Given the description of an element on the screen output the (x, y) to click on. 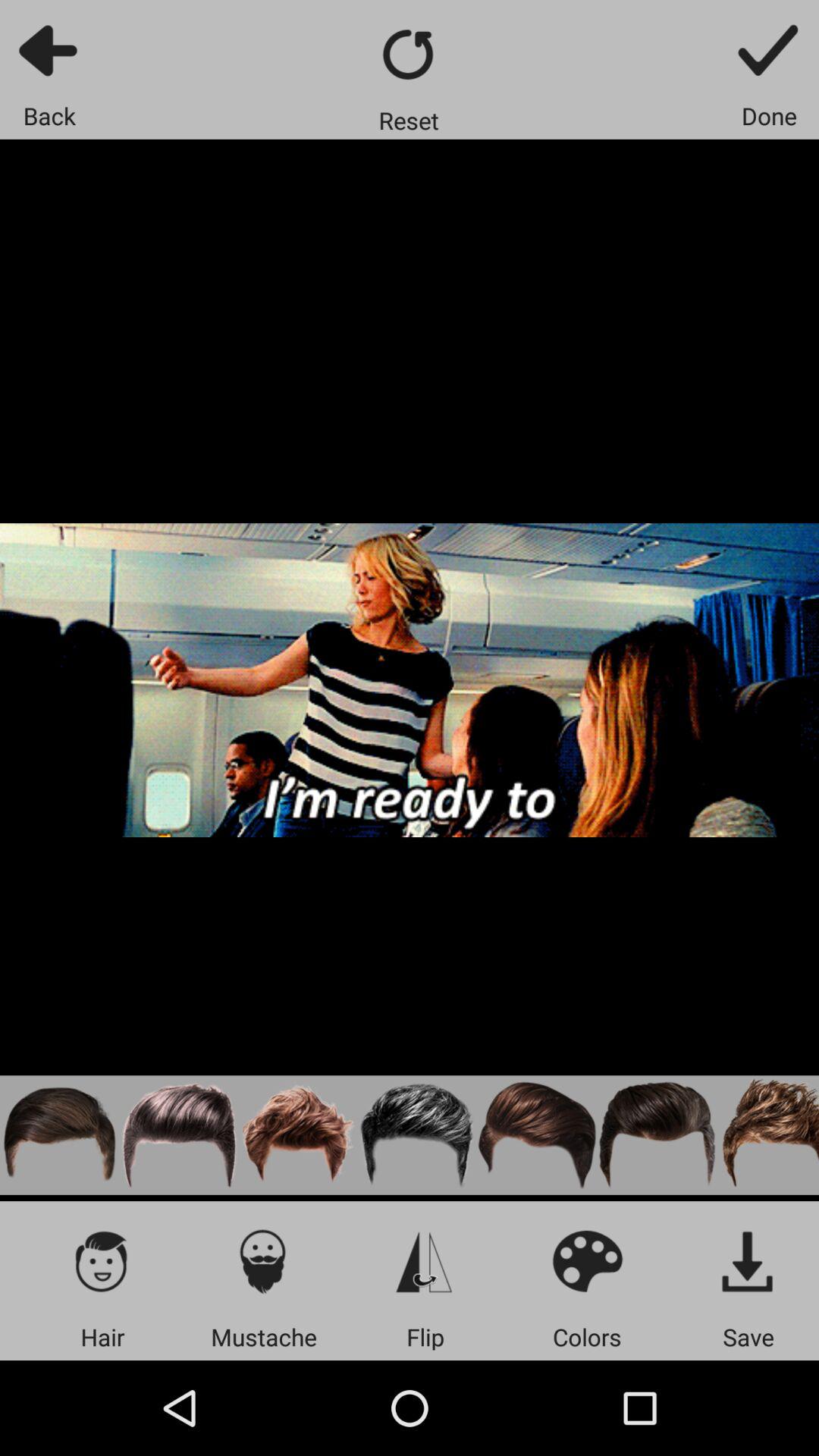
press app above done icon (769, 49)
